Given the description of an element on the screen output the (x, y) to click on. 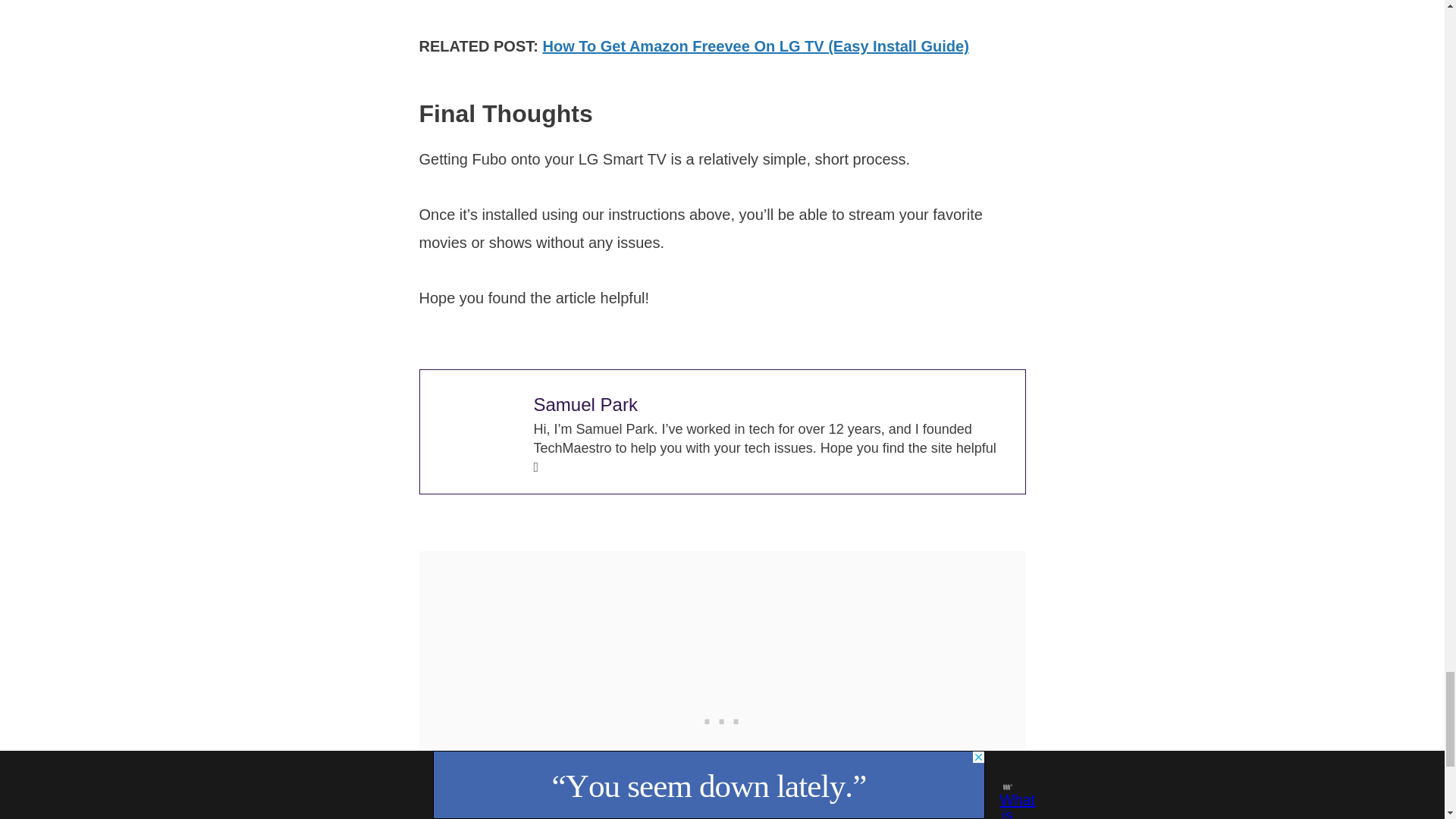
Samuel Park (585, 403)
